Given the description of an element on the screen output the (x, y) to click on. 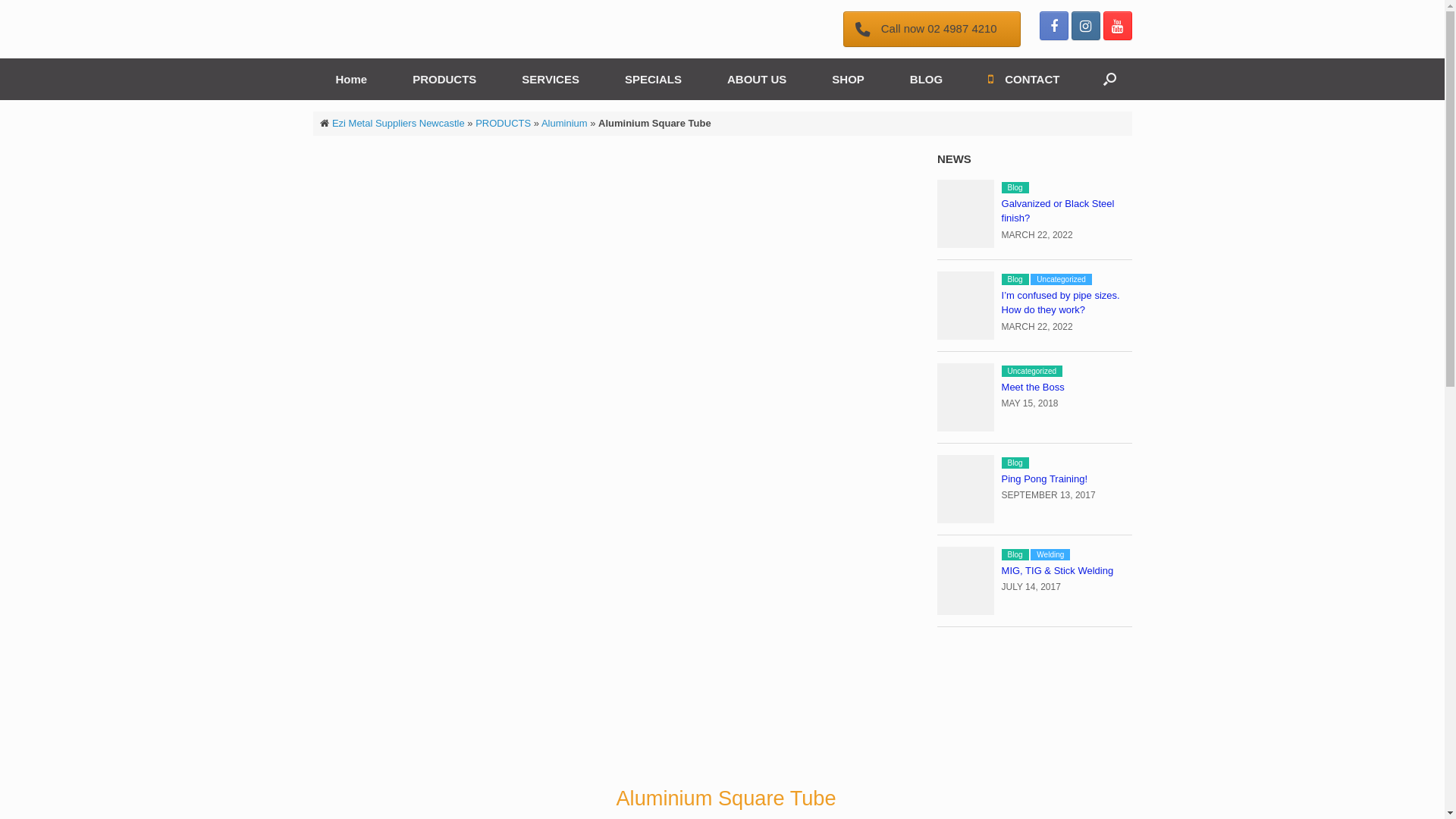
Welding Element type: text (1050, 554)
PRODUCTS Element type: text (443, 79)
MIG, TIG & Stick Welding Element type: text (1057, 570)
BLOG Element type: text (926, 79)
Ezimetal Facebook Element type: hover (1052, 25)
Uncategorized Element type: text (1060, 279)
Ping Pong Training! Element type: text (1044, 478)
Call now 02 4987 4210 Element type: text (931, 29)
SERVICES Element type: text (550, 79)
Meet the Boss Element type: text (1032, 386)
CONTACT Element type: text (1023, 79)
Uncategorized Element type: text (1031, 370)
Aluminium Element type: text (564, 122)
Blog Element type: text (1015, 554)
ABOUT US Element type: text (756, 79)
SPECIALS Element type: text (653, 79)
PRODUCTS Element type: text (502, 122)
Ezimetal YouTube Element type: hover (1116, 25)
Blog Element type: text (1015, 187)
SHOP Element type: text (848, 79)
Home Element type: text (350, 79)
Ezi Metal Suppliers Newcastle Element type: text (398, 122)
Ezimetal Instagram Element type: hover (1084, 25)
Galvanized or Black Steel finish? Element type: text (1057, 210)
Blog Element type: text (1015, 279)
Blog Element type: text (1015, 462)
